Given the description of an element on the screen output the (x, y) to click on. 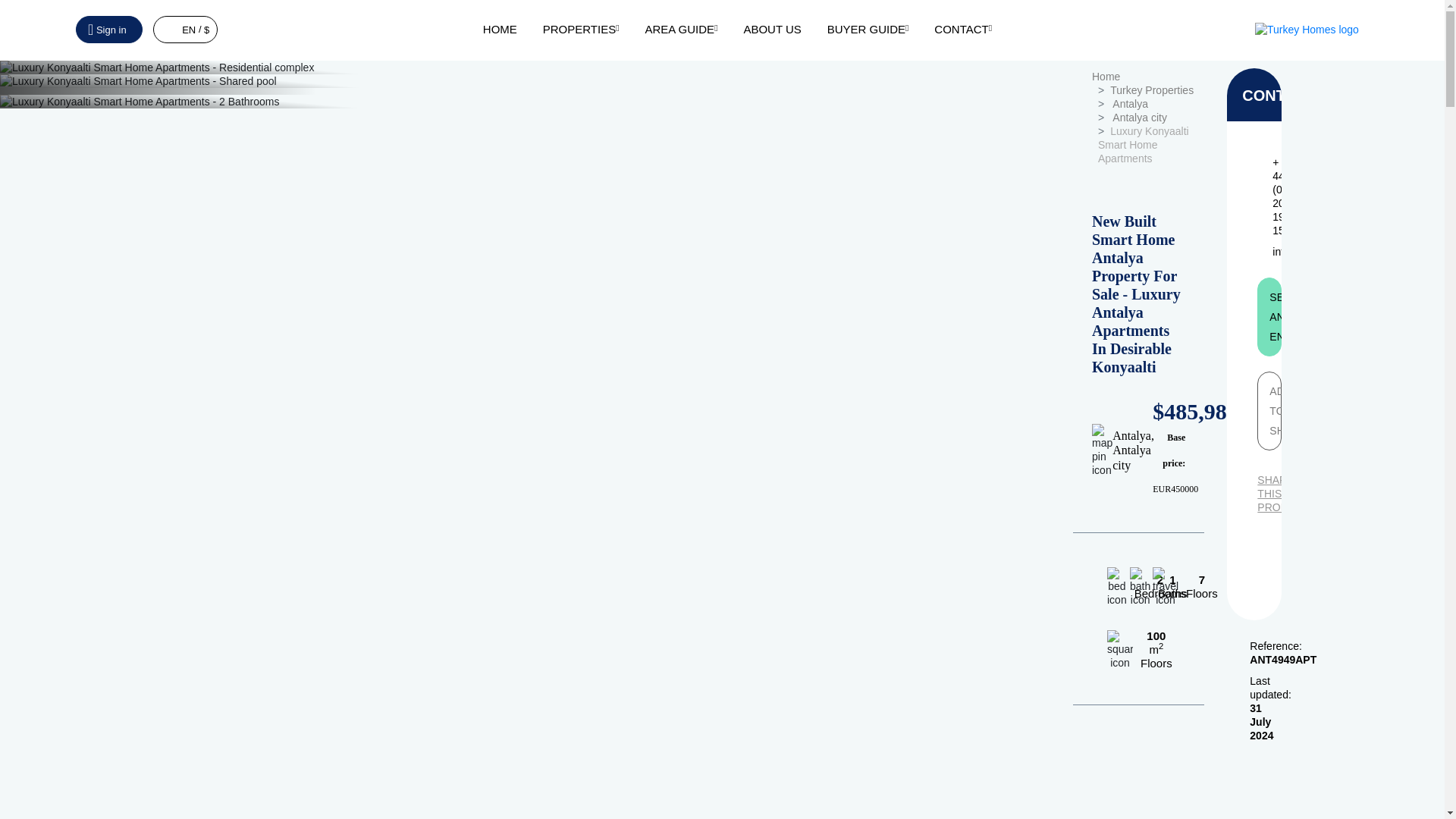
Luxury Konyaalti Smart Home Apartments - 2 Bathrooms (530, 101)
HOME (499, 28)
AREA GUIDE (681, 28)
Luxury Konyaalti Smart Home Apartments - Residential complex (530, 67)
PROPERTIES (581, 28)
BUYER GUIDE (867, 28)
